Given the description of an element on the screen output the (x, y) to click on. 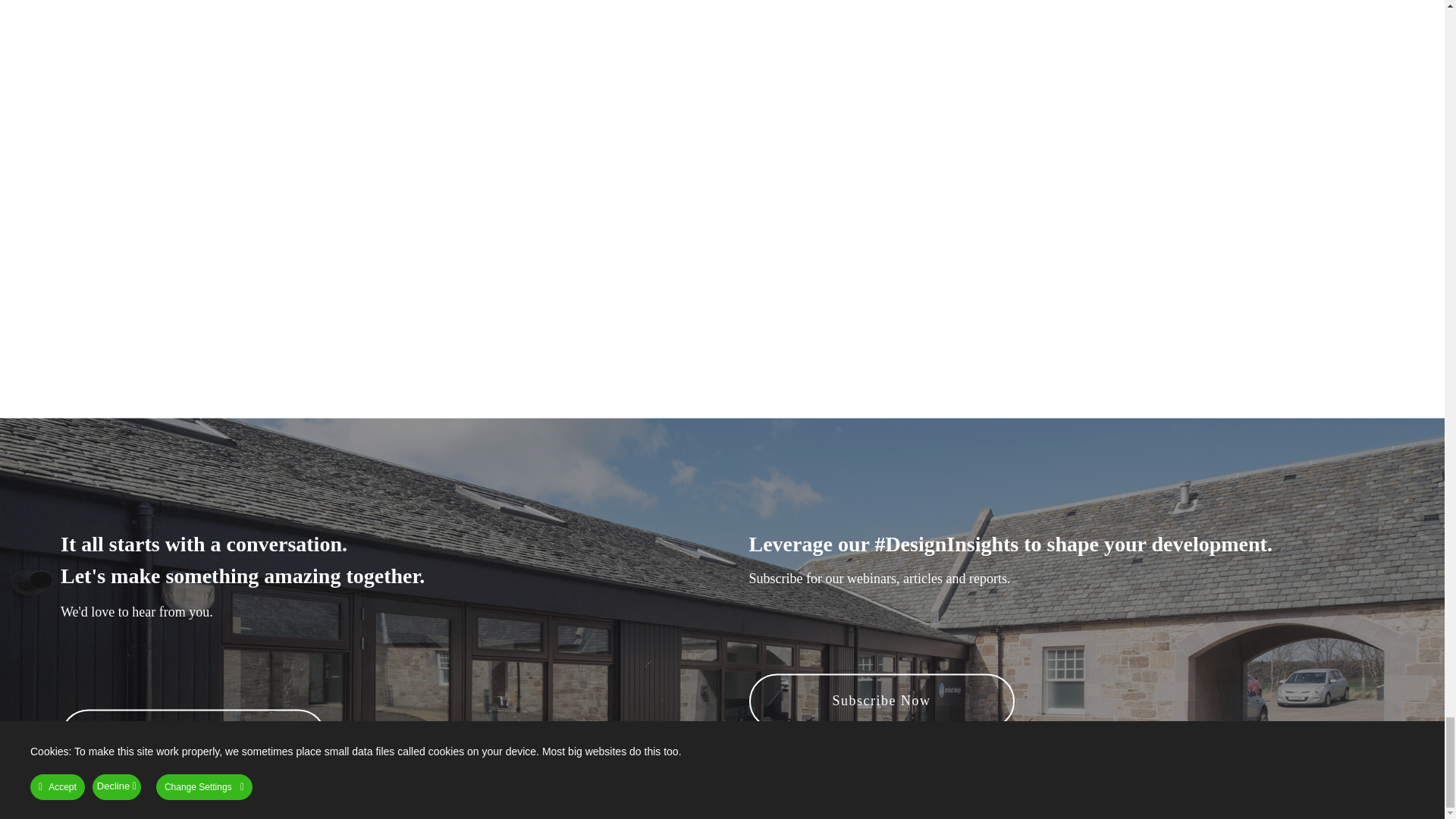
Project Management (1060, 558)
About (576, 502)
Industrial Design (817, 587)
Careers (576, 580)
Mechanical Engineering (817, 503)
Contact (576, 607)
Privacy Policy (318, 690)
Software Development (817, 558)
Work (576, 527)
Regulatory Affairs (1060, 587)
Manufacturing Support (1060, 530)
Subscribe Now (881, 701)
Book a Meeting (193, 736)
News (576, 554)
Electronic Engineering (817, 530)
